Given the description of an element on the screen output the (x, y) to click on. 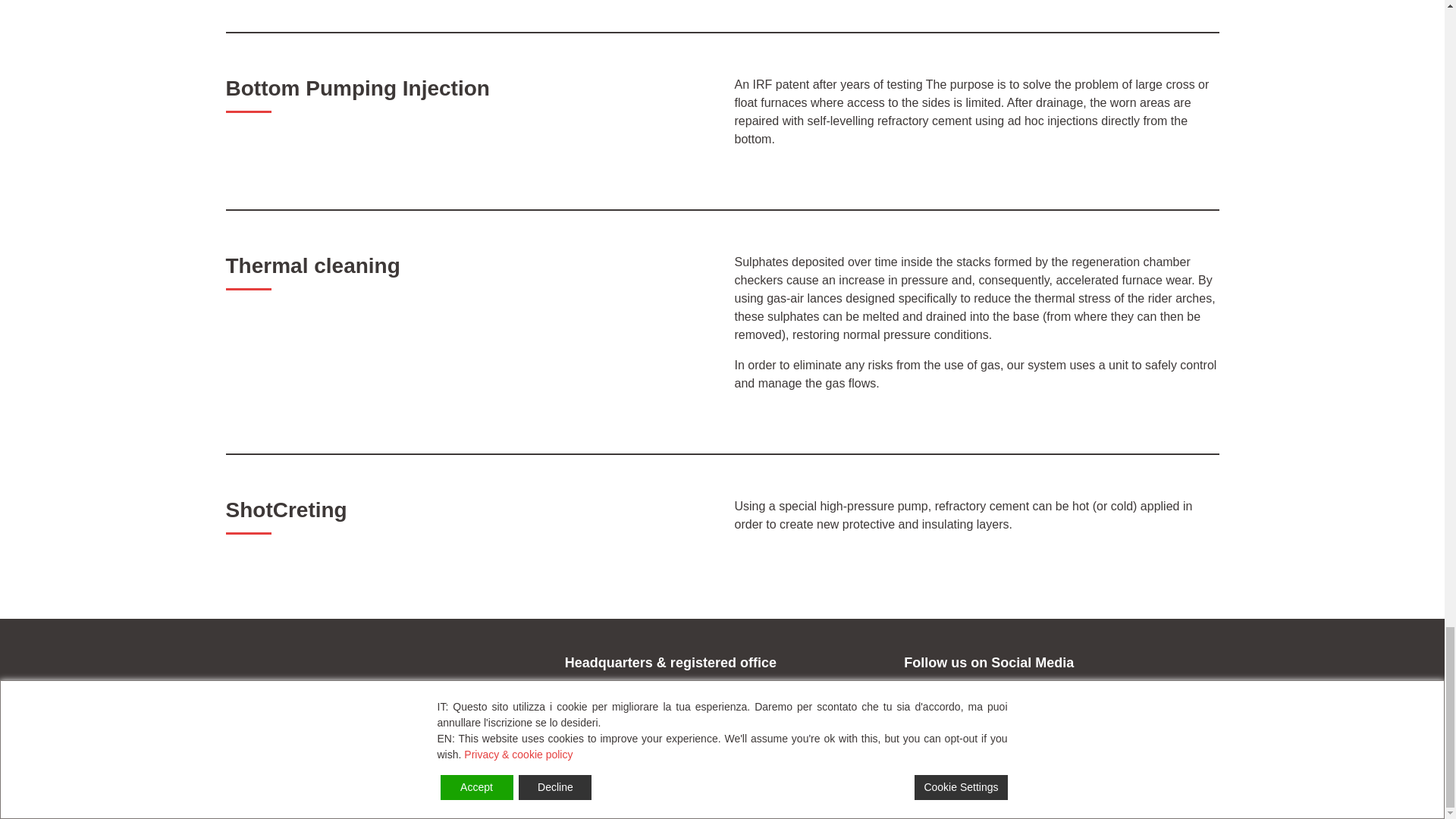
IRF Europa (284, 799)
loading... (589, 739)
